Given the description of an element on the screen output the (x, y) to click on. 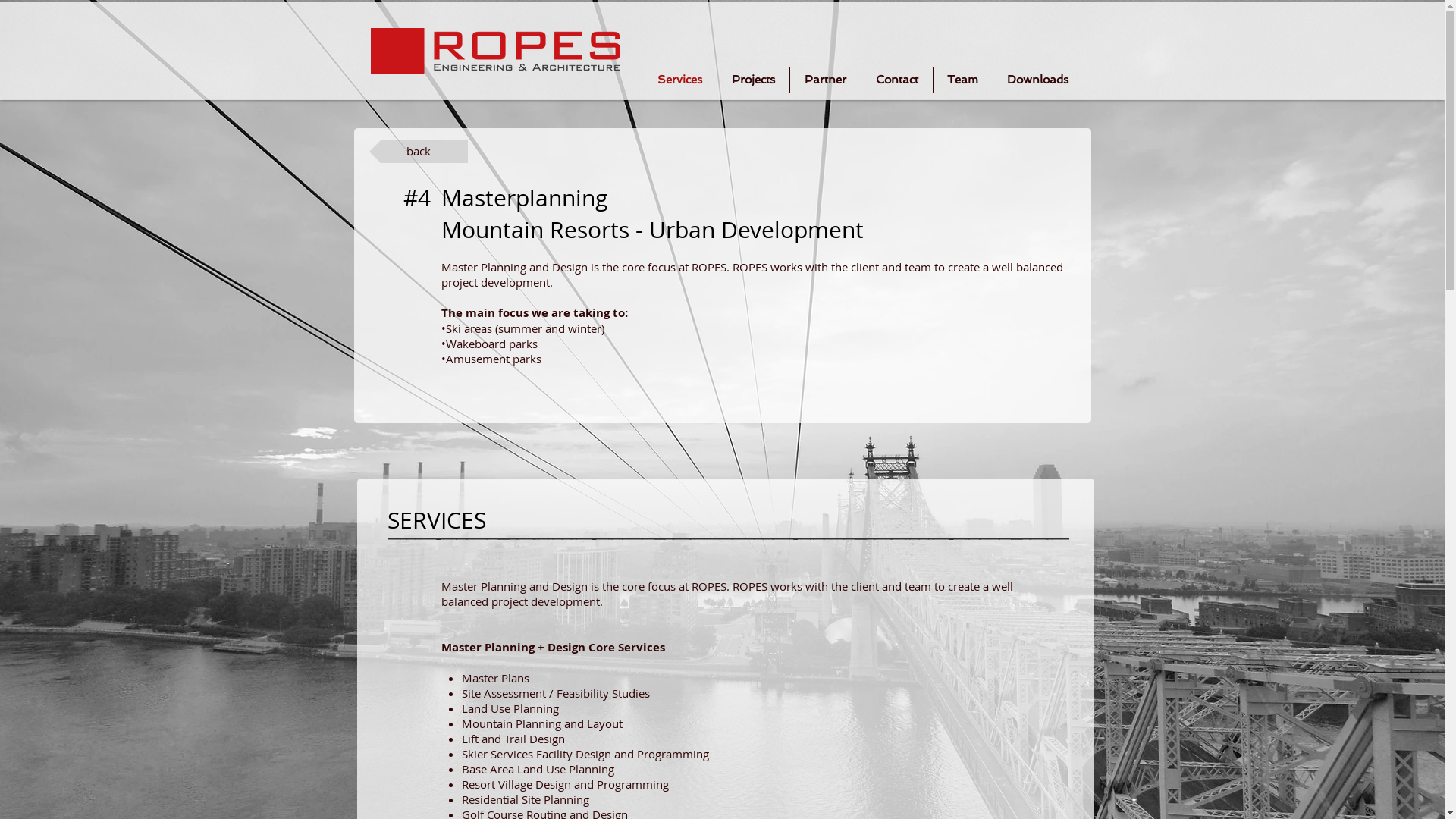
Services Element type: text (679, 79)
back Element type: text (417, 151)
Downloads Element type: text (1037, 79)
Contact Element type: text (896, 79)
Partner Element type: text (825, 79)
Team Element type: text (961, 79)
Projects Element type: text (753, 79)
